Given the description of an element on the screen output the (x, y) to click on. 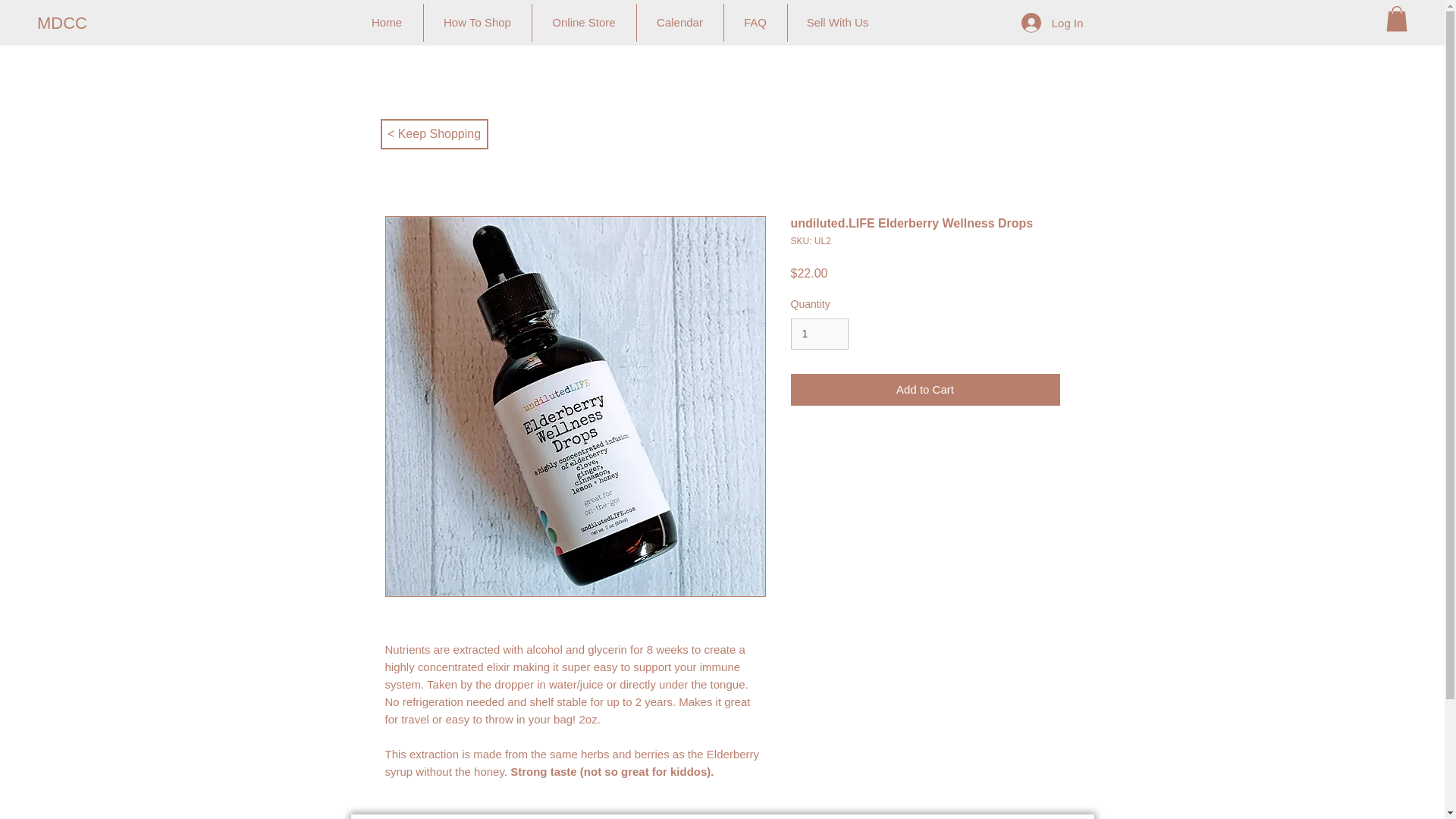
How To Shop (477, 22)
FAQ (754, 22)
MDCC (88, 23)
Home (386, 22)
Calendar (680, 22)
Log In (1052, 22)
Online Store (584, 22)
Sell With Us (836, 22)
Add to Cart (924, 389)
1 (818, 333)
